Given the description of an element on the screen output the (x, y) to click on. 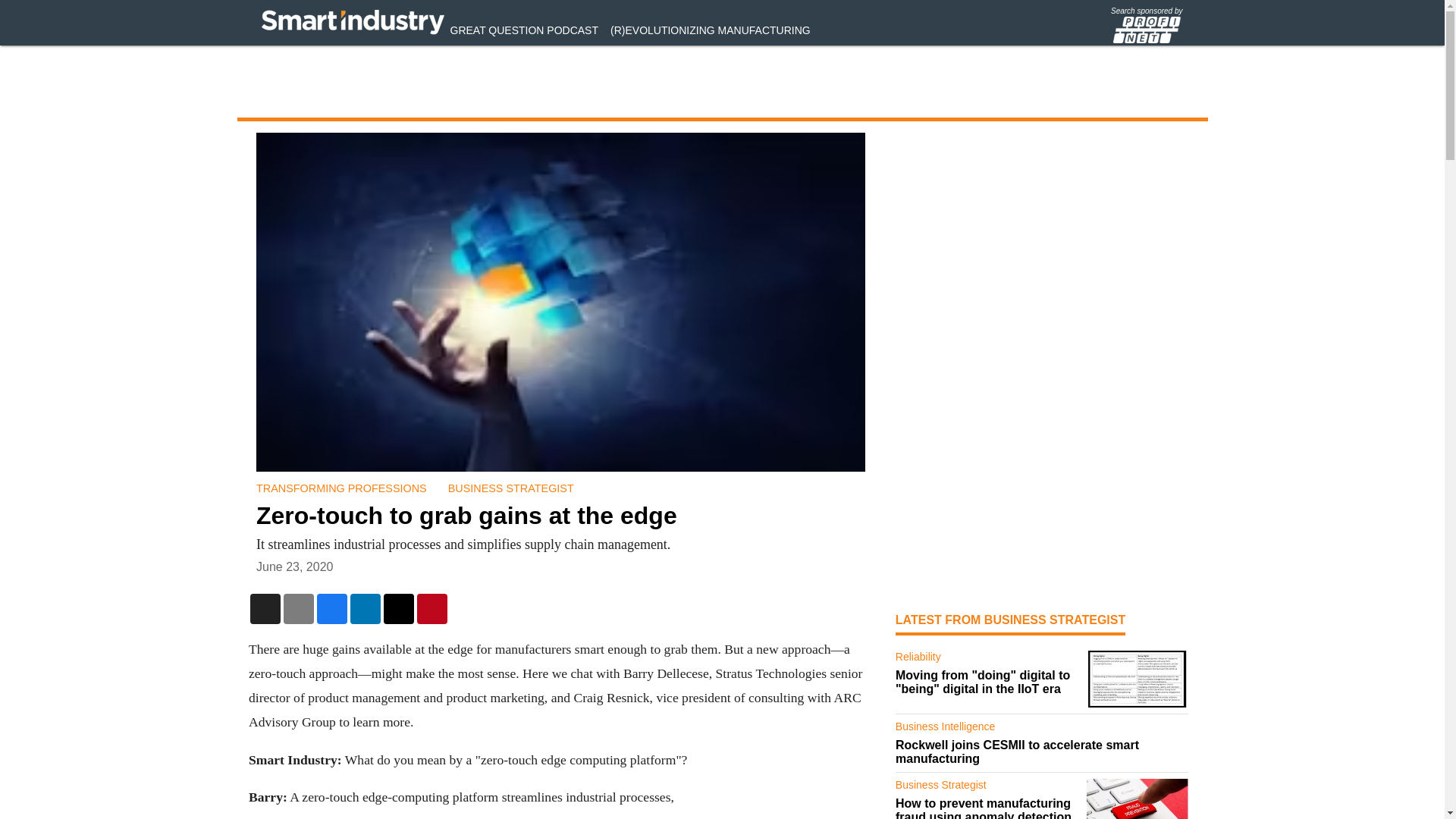
Rockwell joins CESMII to accelerate smart manufacturing (1042, 751)
How to prevent manufacturing fraud using anomaly detection (986, 807)
Business Strategist (986, 787)
BUSINESS STRATEGIST (509, 488)
TRANSFORMING PROFESSIONS (341, 488)
clark-graphic2 (1137, 678)
Business Intelligence (1042, 729)
Reliability (986, 659)
GREAT QUESTION PODCAST (523, 30)
